Given the description of an element on the screen output the (x, y) to click on. 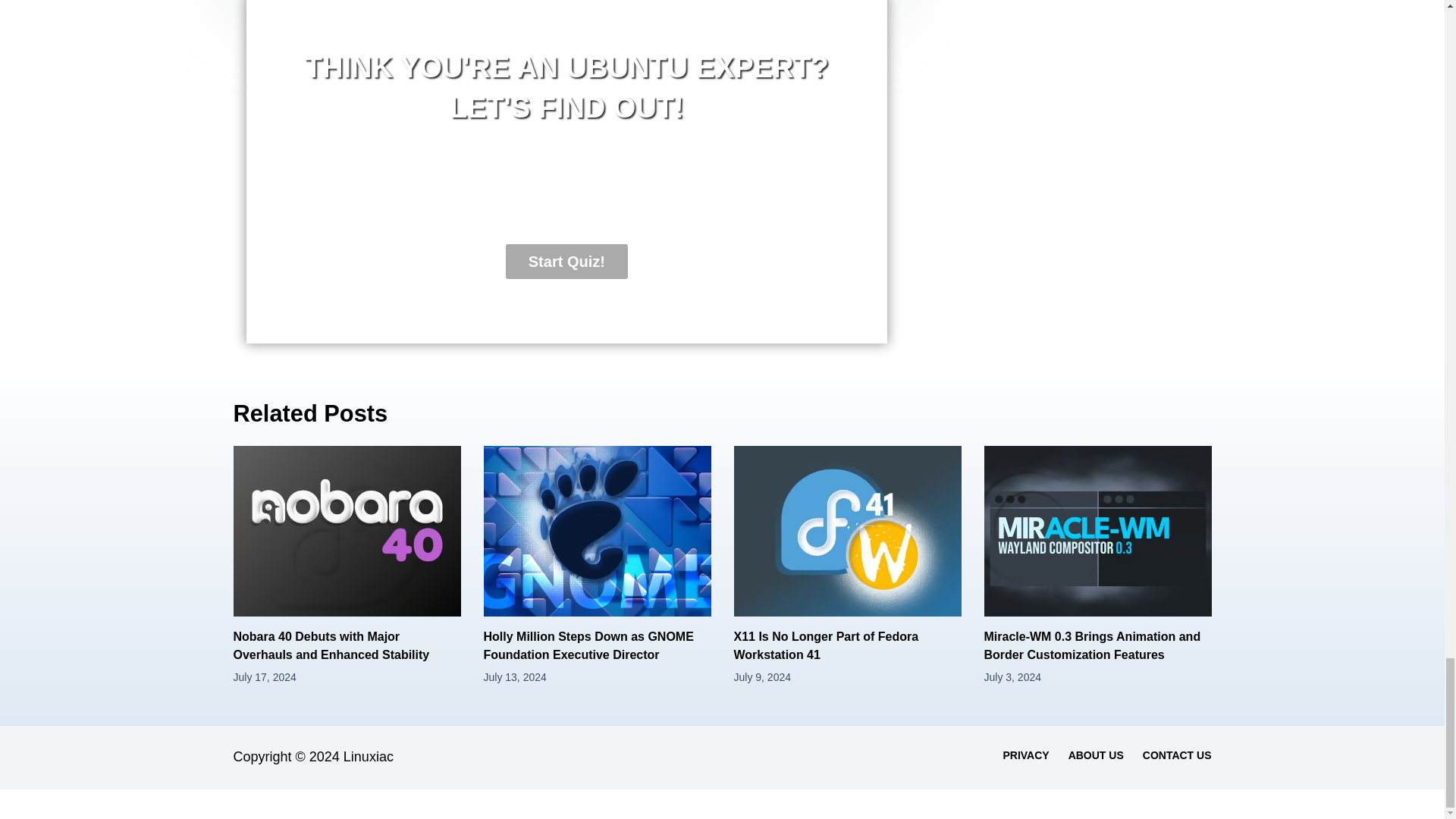
Start Quiz! (566, 261)
